Given the description of an element on the screen output the (x, y) to click on. 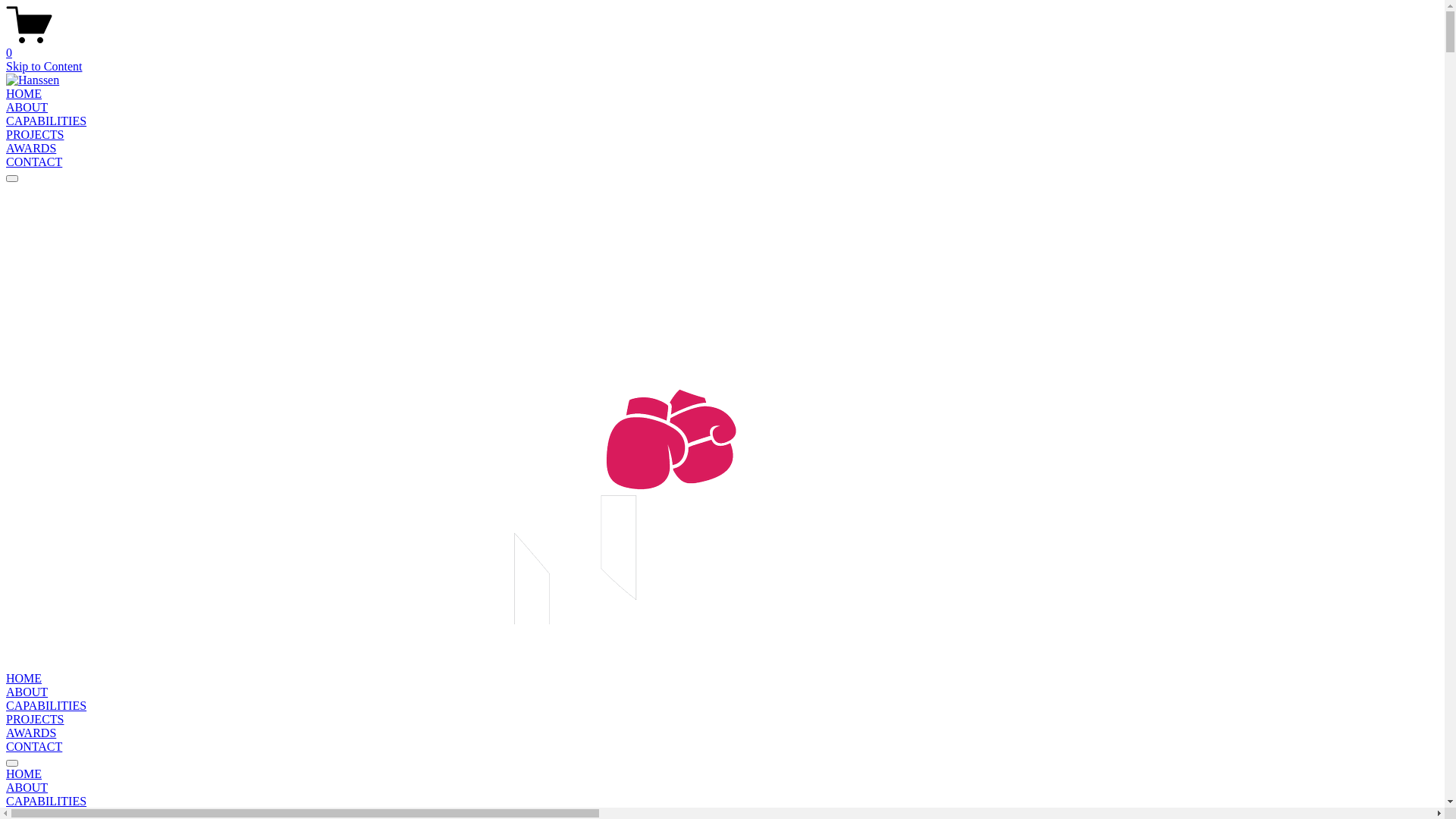
CAPABILITIES Element type: text (46, 120)
CONTACT Element type: text (34, 746)
ABOUT Element type: text (26, 106)
AWARDS Element type: text (31, 147)
AWARDS Element type: text (31, 732)
HOME Element type: text (23, 93)
CAPABILITIES Element type: text (46, 705)
CONTACT Element type: text (34, 161)
PROJECTS Element type: text (34, 134)
CAPABILITIES Element type: text (722, 801)
0 Element type: text (722, 45)
Skip to Content Element type: text (43, 65)
ABOUT Element type: text (722, 787)
PROJECTS Element type: text (34, 718)
HOME Element type: text (23, 677)
HOME Element type: text (722, 774)
ABOUT Element type: text (26, 691)
